Given the description of an element on the screen output the (x, y) to click on. 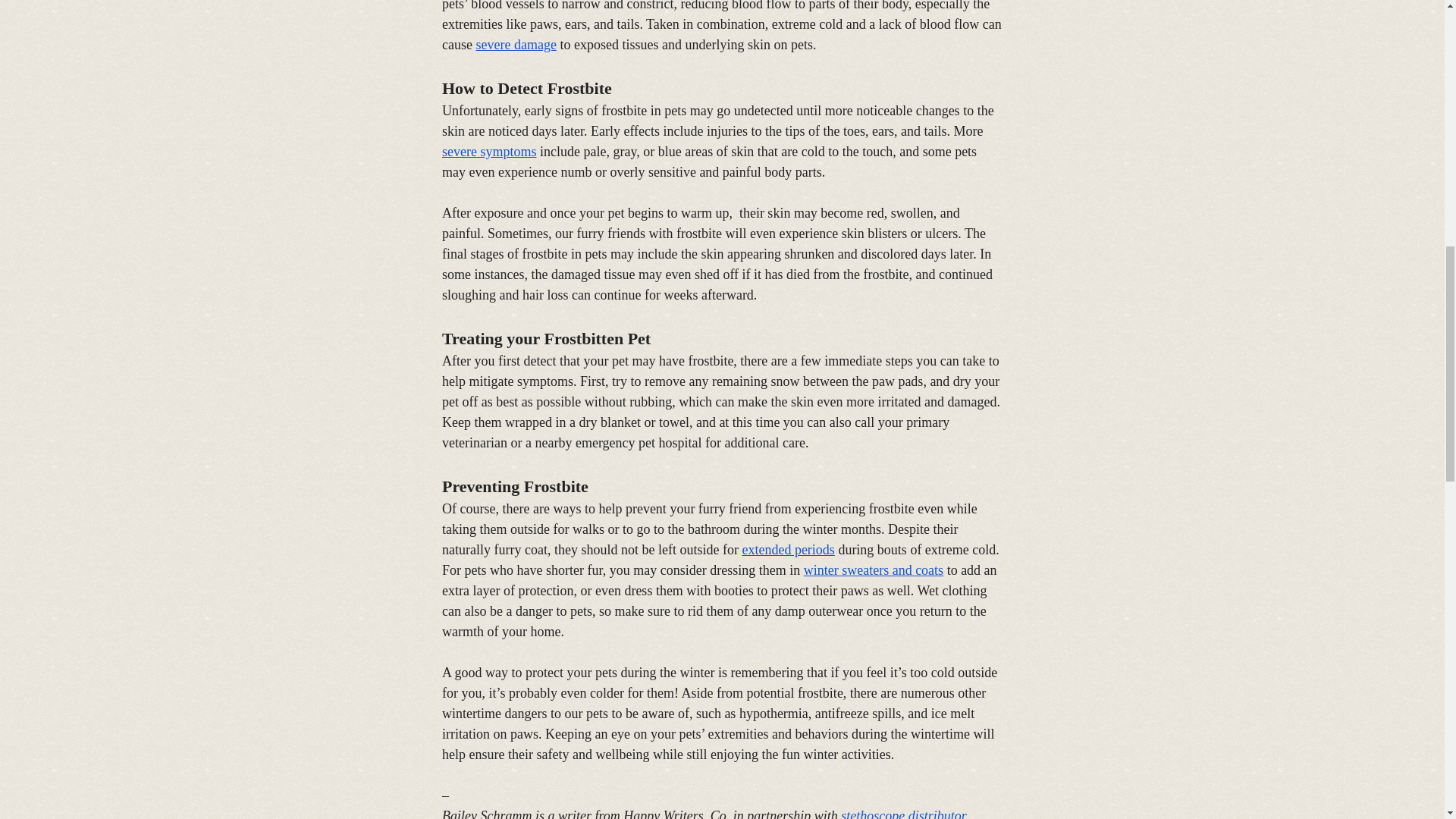
winter sweaters and coats (872, 570)
extended periods (787, 549)
stethoscope distributor (903, 813)
severe damage (516, 44)
severe symptoms (488, 151)
